Given the description of an element on the screen output the (x, y) to click on. 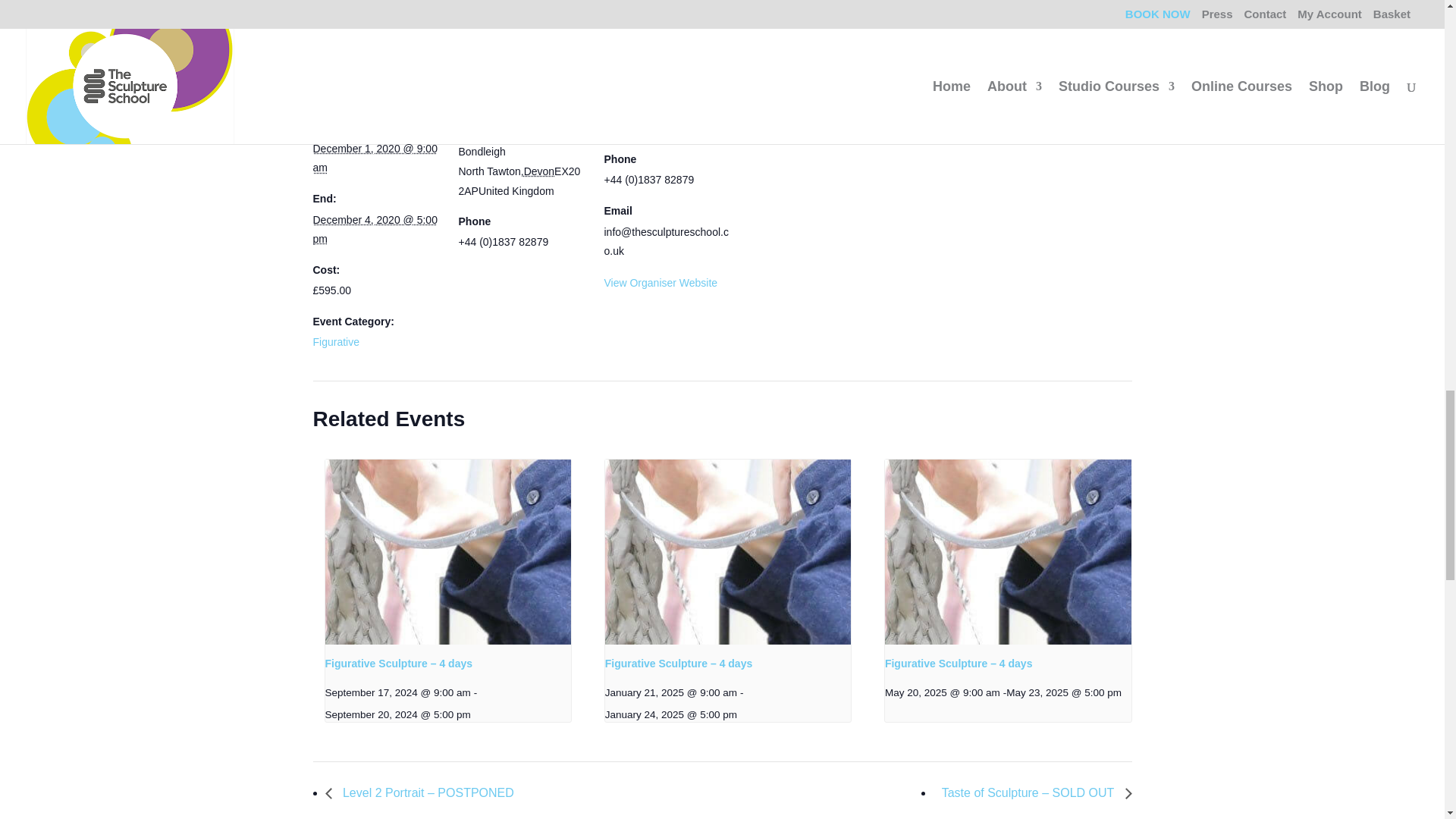
2020-12-04 (374, 229)
The Sculpture School (654, 128)
Devon (539, 171)
2020-12-01 (374, 158)
